Given the description of an element on the screen output the (x, y) to click on. 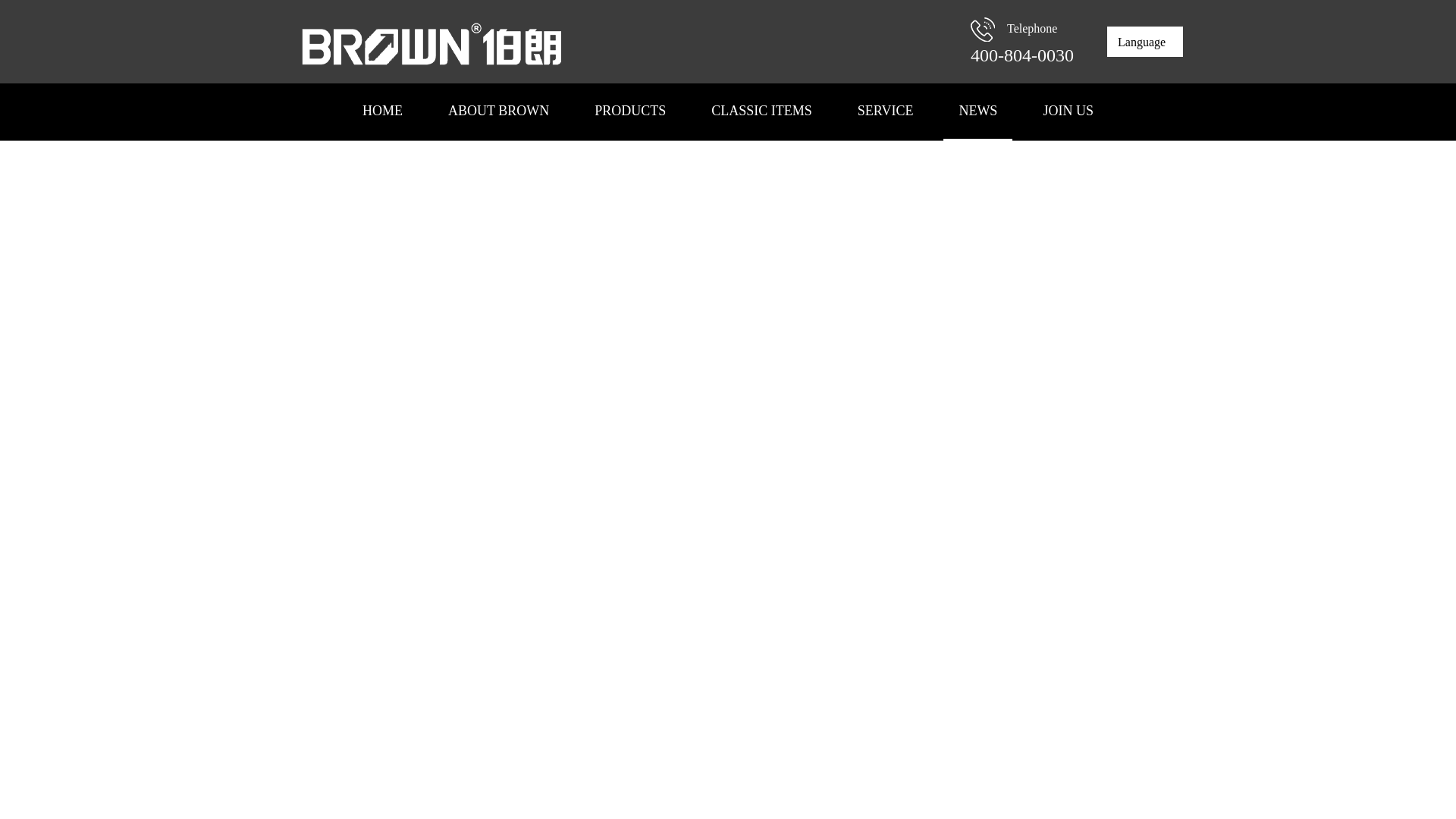
CLASSIC ITEMS (761, 110)
NEWS (977, 110)
ABOUT BROWN (498, 110)
Language (1144, 41)
JOIN US (1067, 110)
SERVICE (885, 110)
PRODUCTS (630, 110)
HOME (382, 110)
